Given the description of an element on the screen output the (x, y) to click on. 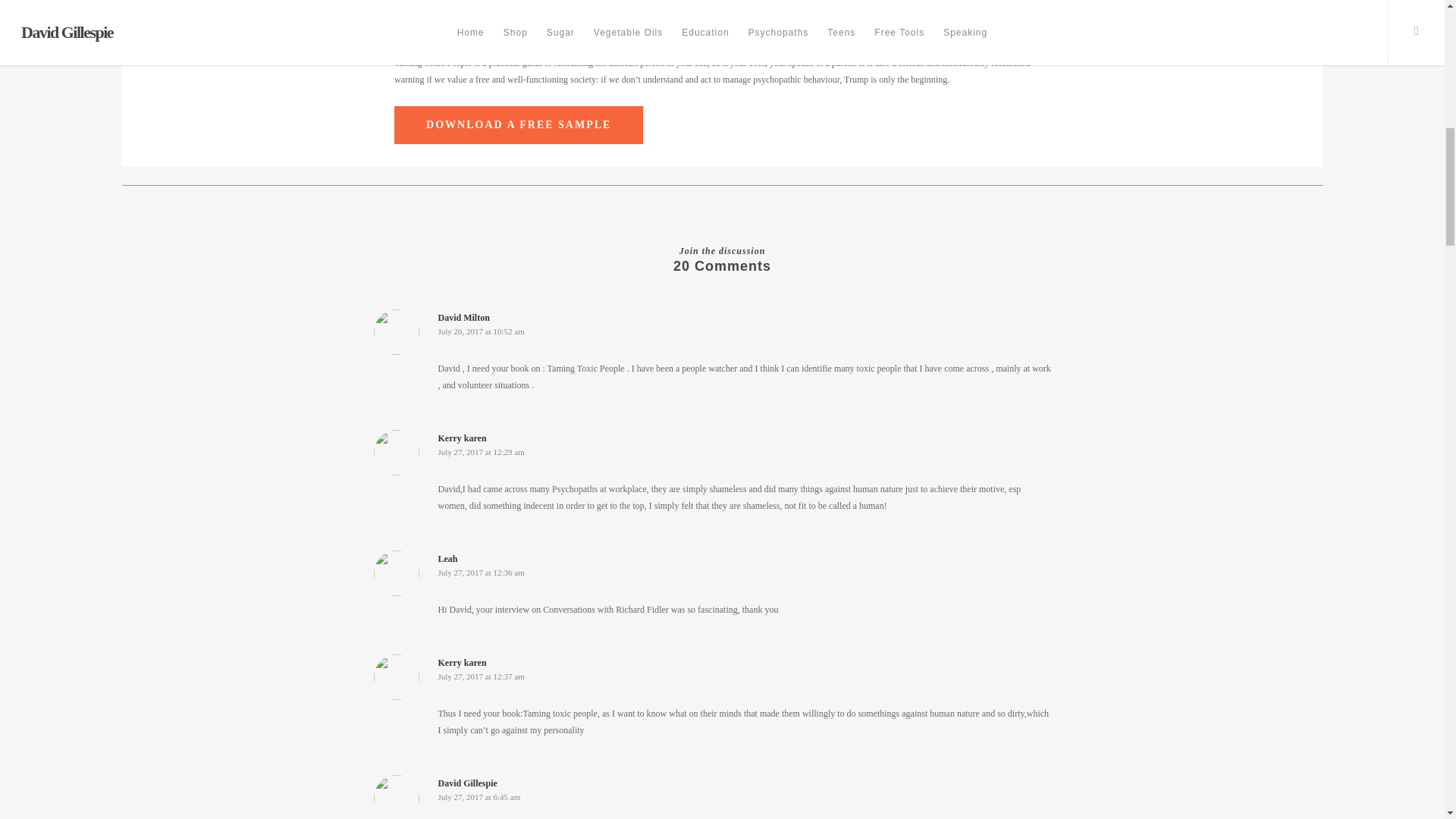
July 27, 2017 at 6:45 am (479, 796)
July 27, 2017 at 12:29 am (481, 451)
DOWNLOAD A FREE SAMPLE (518, 125)
July 27, 2017 at 12:37 am (481, 675)
July 26, 2017 at 10:52 am (481, 330)
July 27, 2017 at 12:36 am (481, 572)
